Given the description of an element on the screen output the (x, y) to click on. 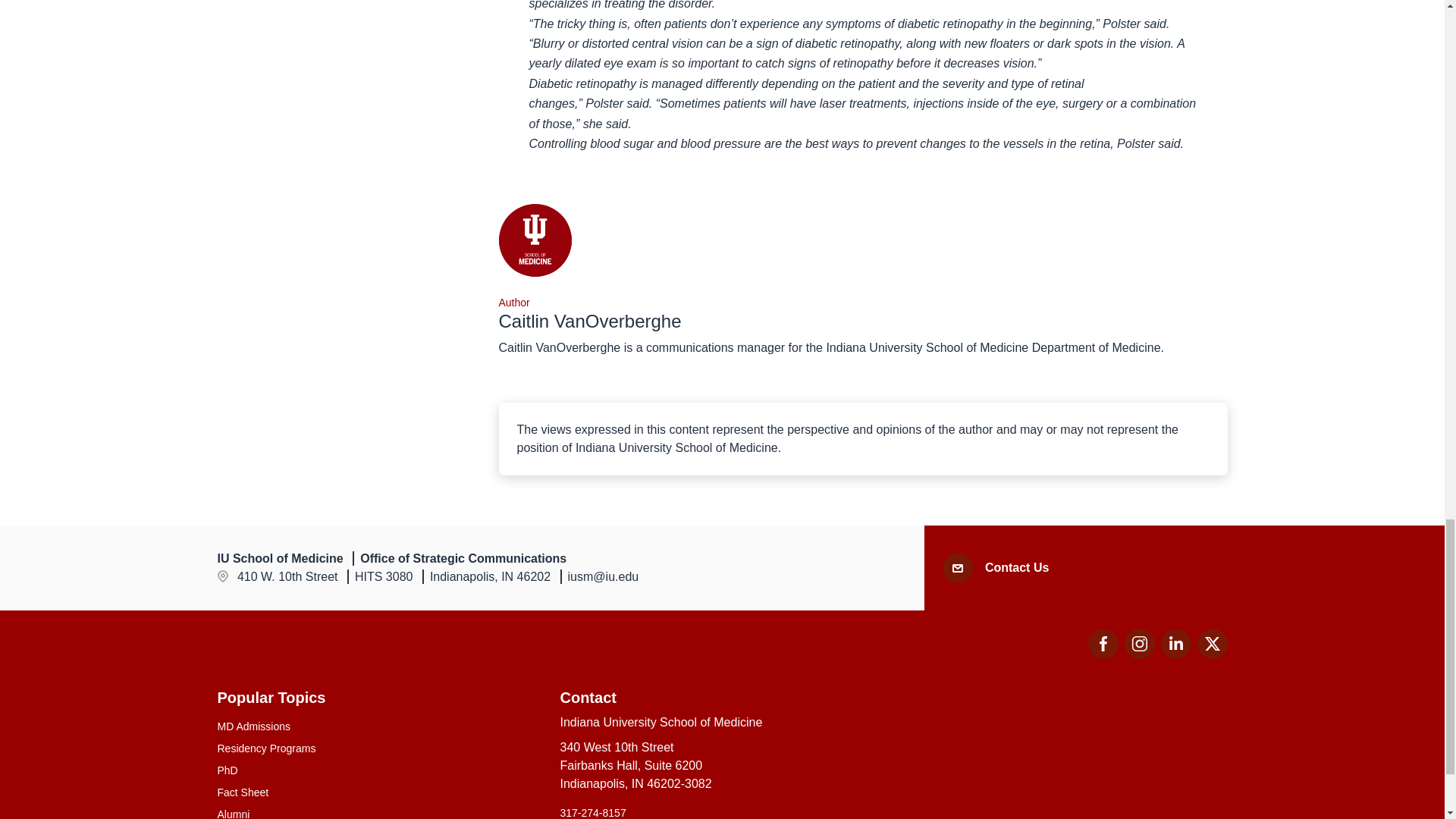
MD Admissions (378, 726)
317-274-8157 (1175, 654)
Twitter (721, 812)
Instagram (1211, 643)
Residency Programs (1139, 643)
LinkedIn (1139, 654)
Contact Us (378, 748)
